Given the description of an element on the screen output the (x, y) to click on. 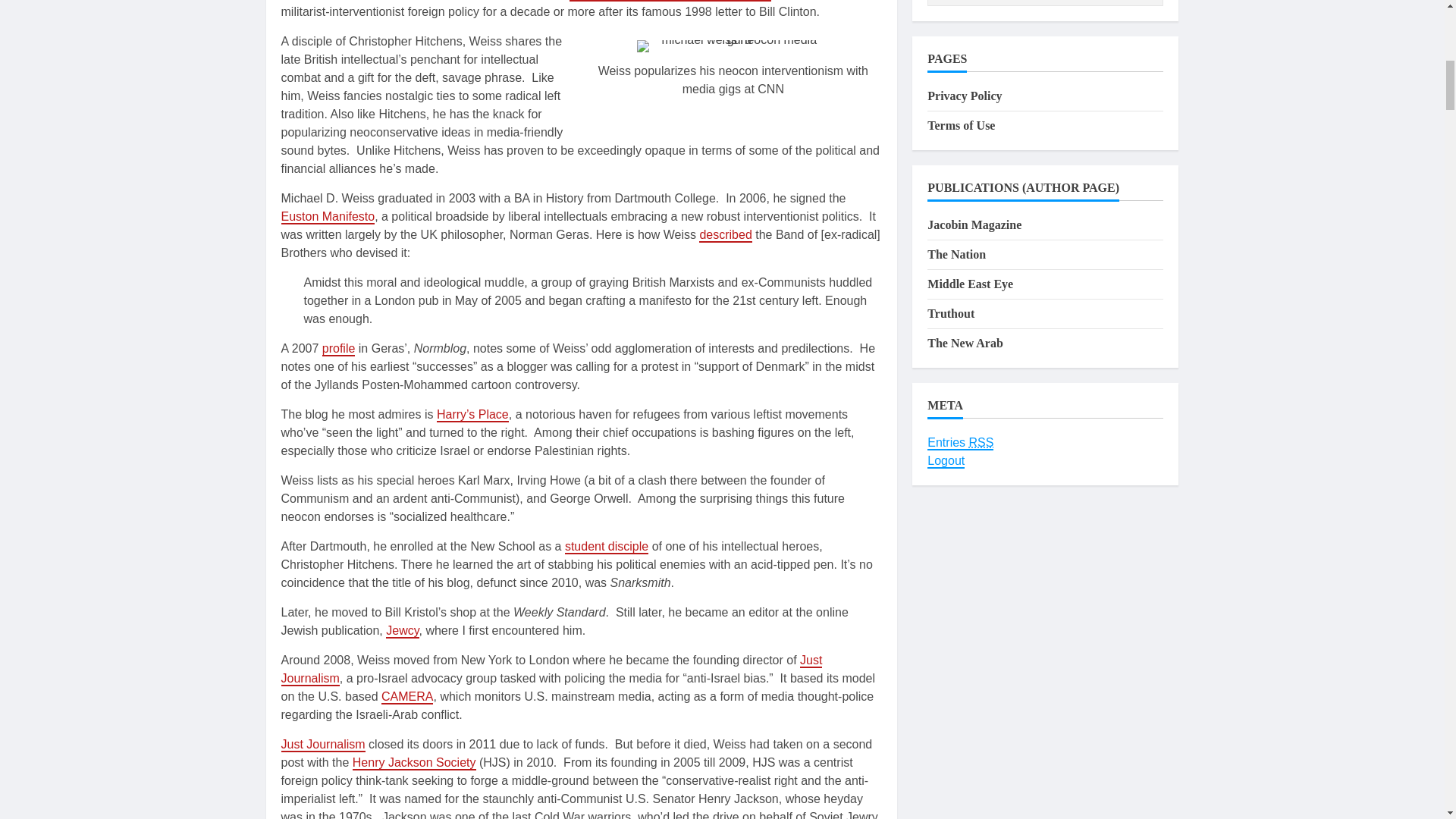
Just Journalism (551, 669)
student disciple (605, 546)
described (724, 235)
Really Simple Syndication (981, 442)
Just Journalism (323, 744)
CAMERA (406, 697)
Euston Manifesto (327, 216)
Henry Jackson Society (414, 762)
Jewcy (402, 631)
profile (338, 349)
